Given the description of an element on the screen output the (x, y) to click on. 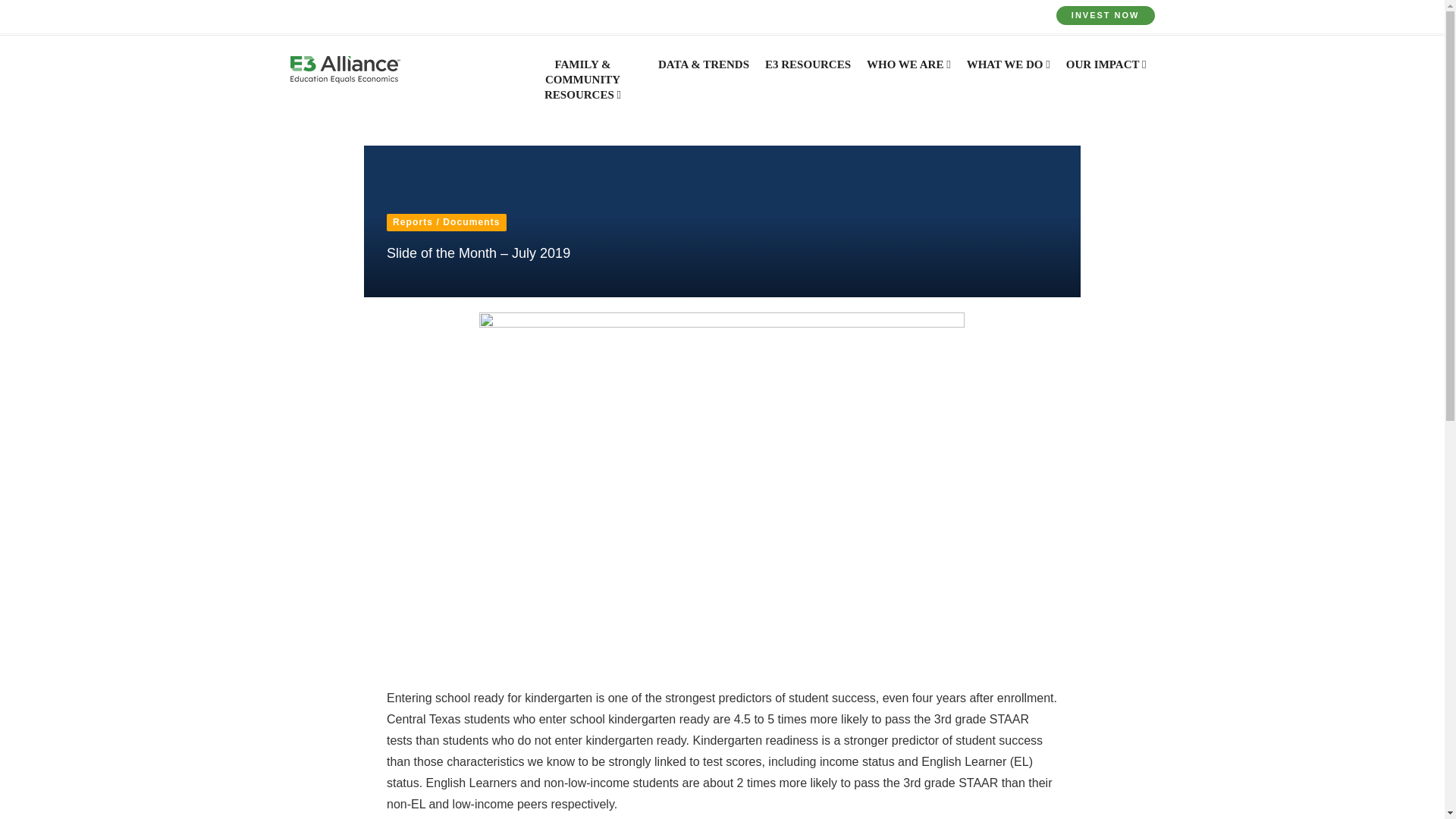
CONTACT (526, 15)
Who We Are (908, 71)
OUR IMPACT (1106, 71)
E3 Resources (807, 71)
WHAT WE DO (1007, 71)
What We Do (1007, 71)
E3 RESOURCES (807, 71)
E3 Alliance (343, 69)
INVEST NOW (1105, 15)
WHO WE ARE (908, 71)
